Given the description of an element on the screen output the (x, y) to click on. 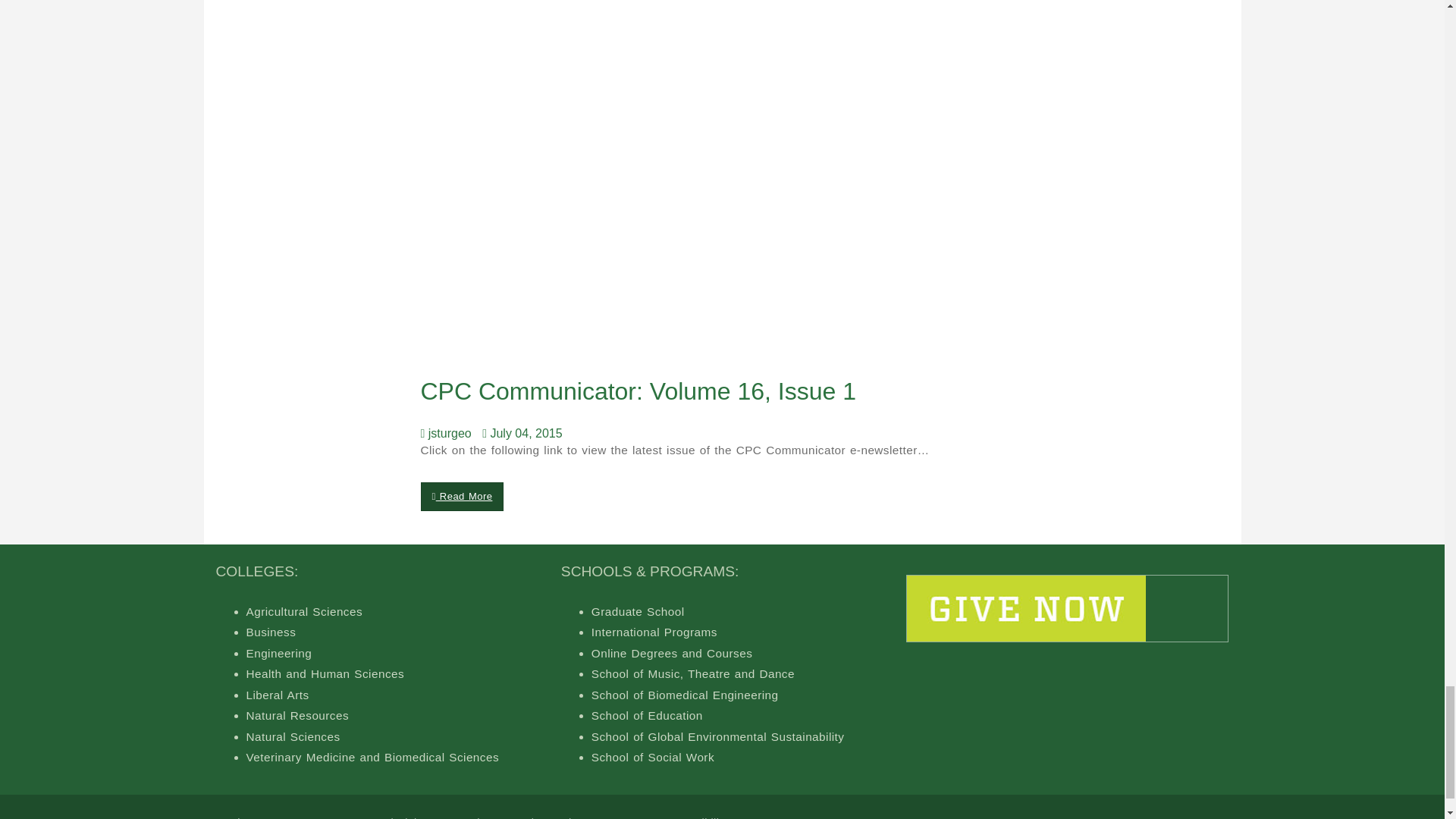
Posts by jsturgeo (449, 432)
